Given the description of an element on the screen output the (x, y) to click on. 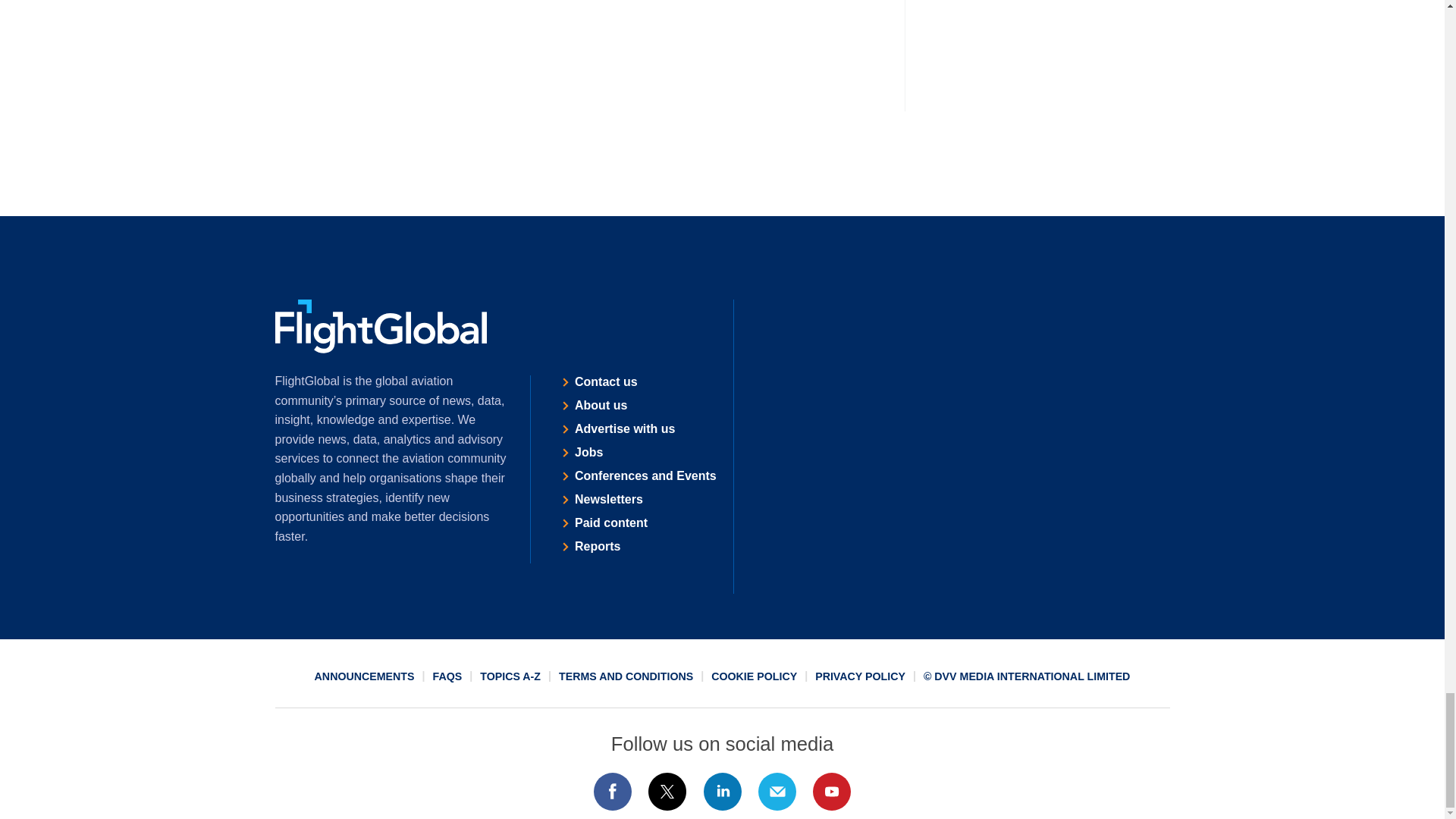
Connect with us on Youtube (831, 791)
Connect with us on Facebook (611, 791)
Email us (776, 791)
Connect with us on Linked In (721, 791)
Connect with us on Twitter (667, 791)
